Given the description of an element on the screen output the (x, y) to click on. 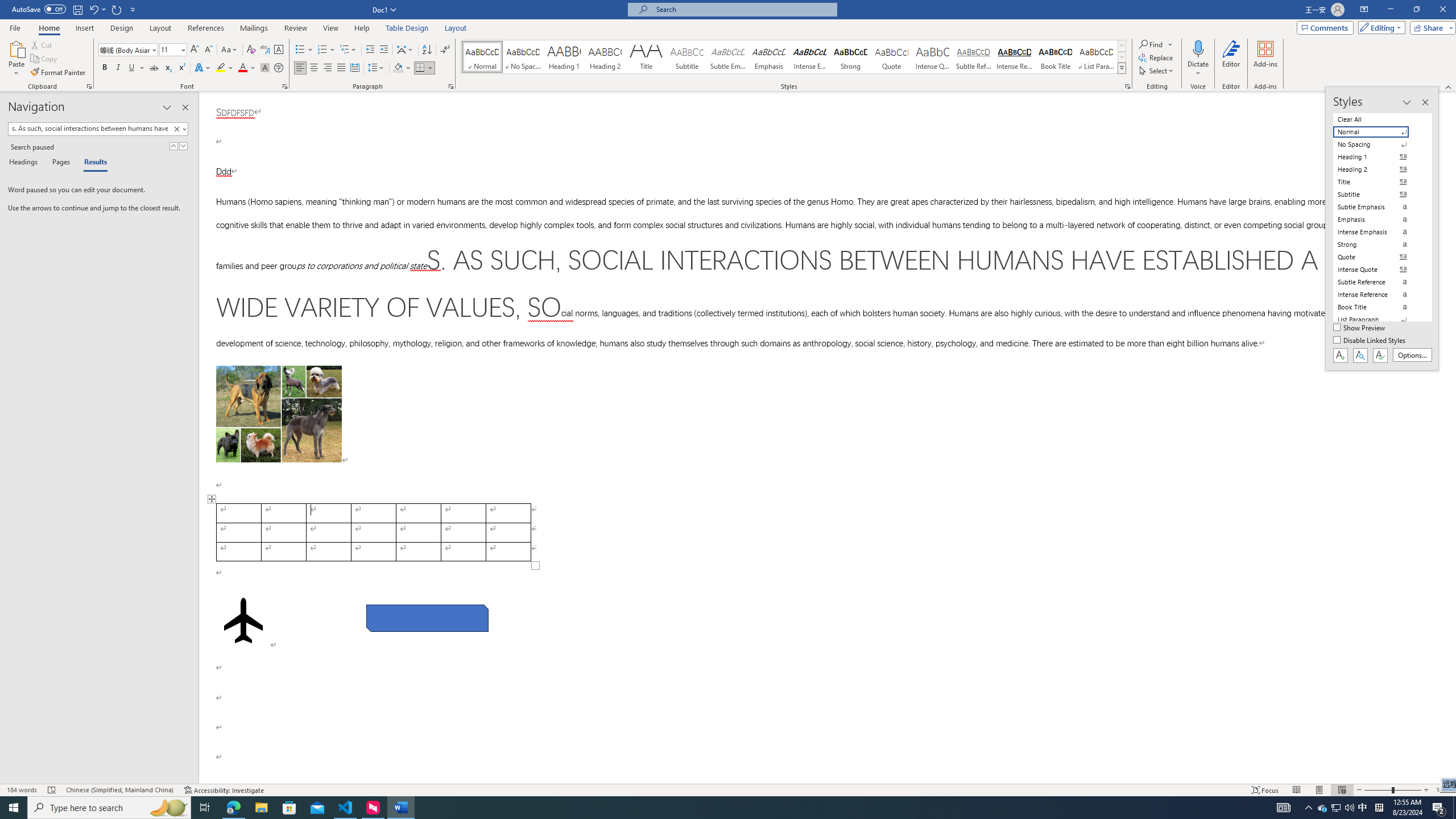
Next Result (183, 145)
Accessibility Checker Accessibility: Investigate (224, 790)
Font Color RGB(255, 0, 0) (241, 67)
Character Border (278, 49)
Paragraph... (450, 85)
Clear (178, 128)
Replace... (1156, 56)
Options... (1412, 354)
Subscript (167, 67)
Word Count 184 words (22, 790)
